Given the description of an element on the screen output the (x, y) to click on. 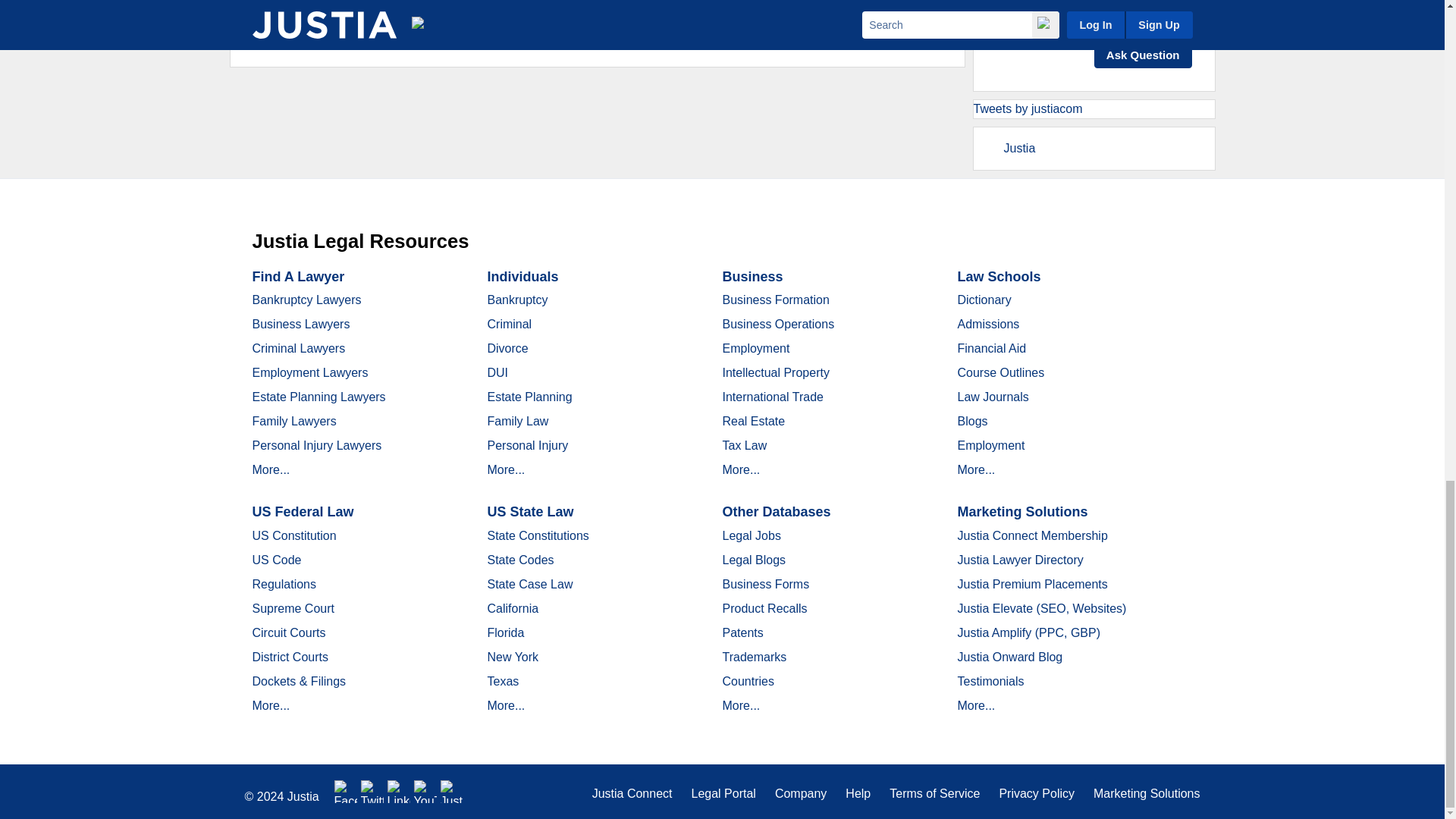
Twitter (372, 791)
View all posts in Abortion (311, 35)
View all posts in Abortion (322, 19)
Facebook (345, 791)
View all posts in Texas (489, 35)
View all posts in abortion rights (436, 35)
LinkedIn (398, 791)
Justia Lawyer Directory (452, 791)
View all posts in US Courts (464, 19)
